Given the description of an element on the screen output the (x, y) to click on. 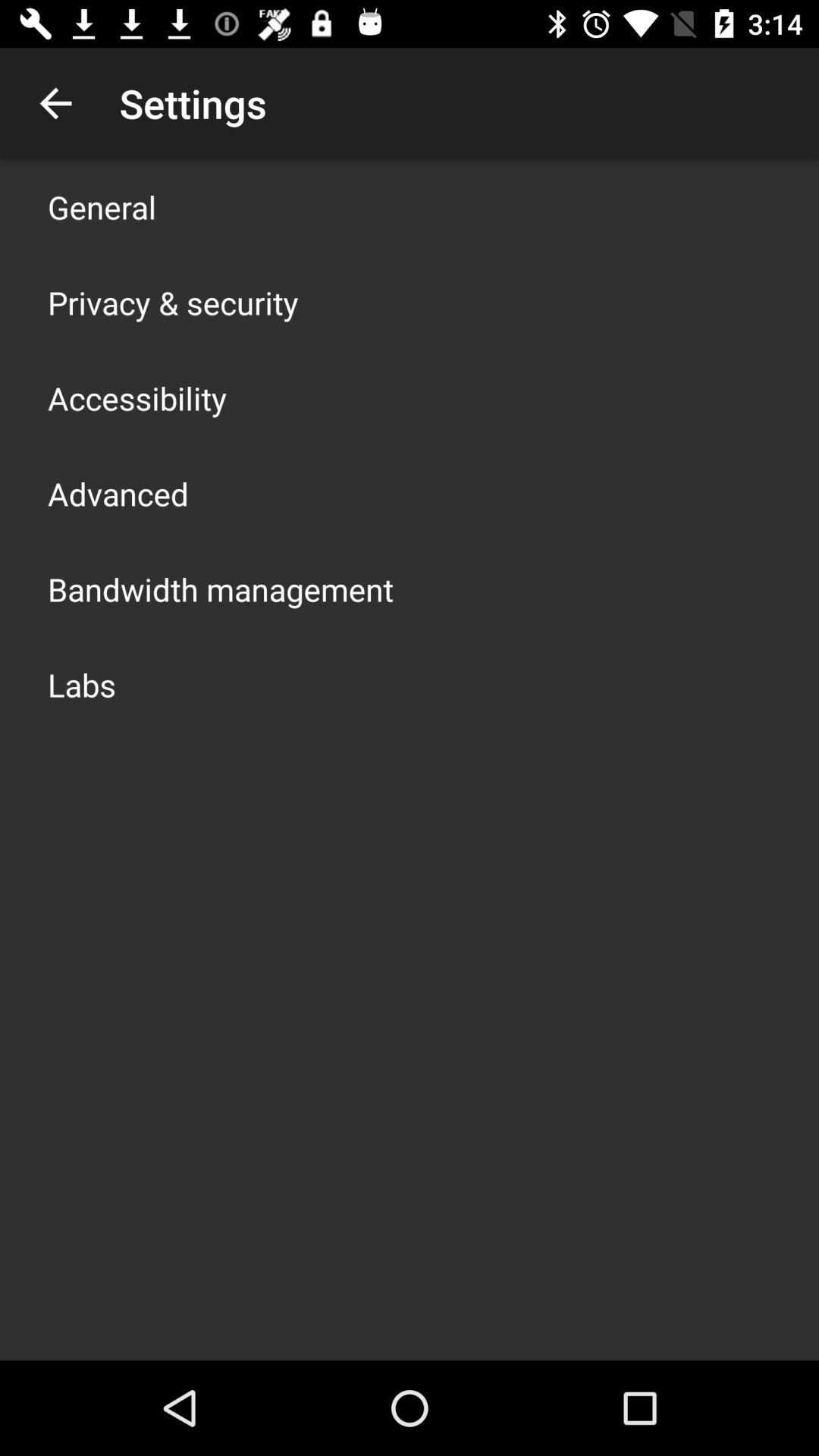
turn on the privacy & security app (172, 302)
